Given the description of an element on the screen output the (x, y) to click on. 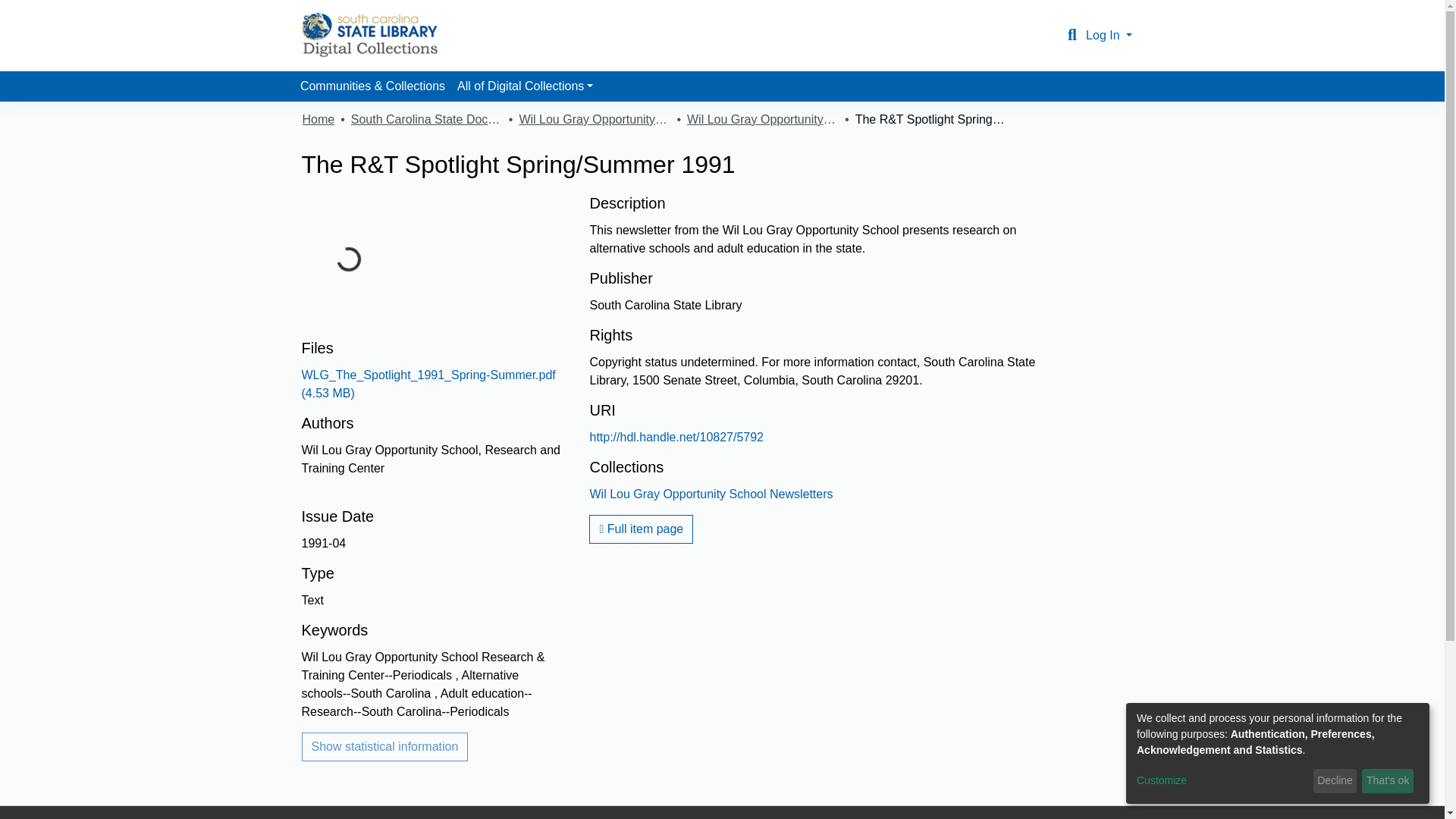
Customize (1222, 780)
Full item page (641, 529)
That's ok (1387, 781)
Log In (1108, 34)
Home (317, 119)
South Carolina State Documents Depository (426, 119)
All of Digital Collections (524, 86)
Search (1072, 35)
Decline (1334, 781)
Wil Lou Gray Opportunity School Newsletters (762, 119)
Wil Lou Gray Opportunity School (593, 119)
Show statistical information (384, 746)
Wil Lou Gray Opportunity School Newsletters (710, 493)
